Given the description of an element on the screen output the (x, y) to click on. 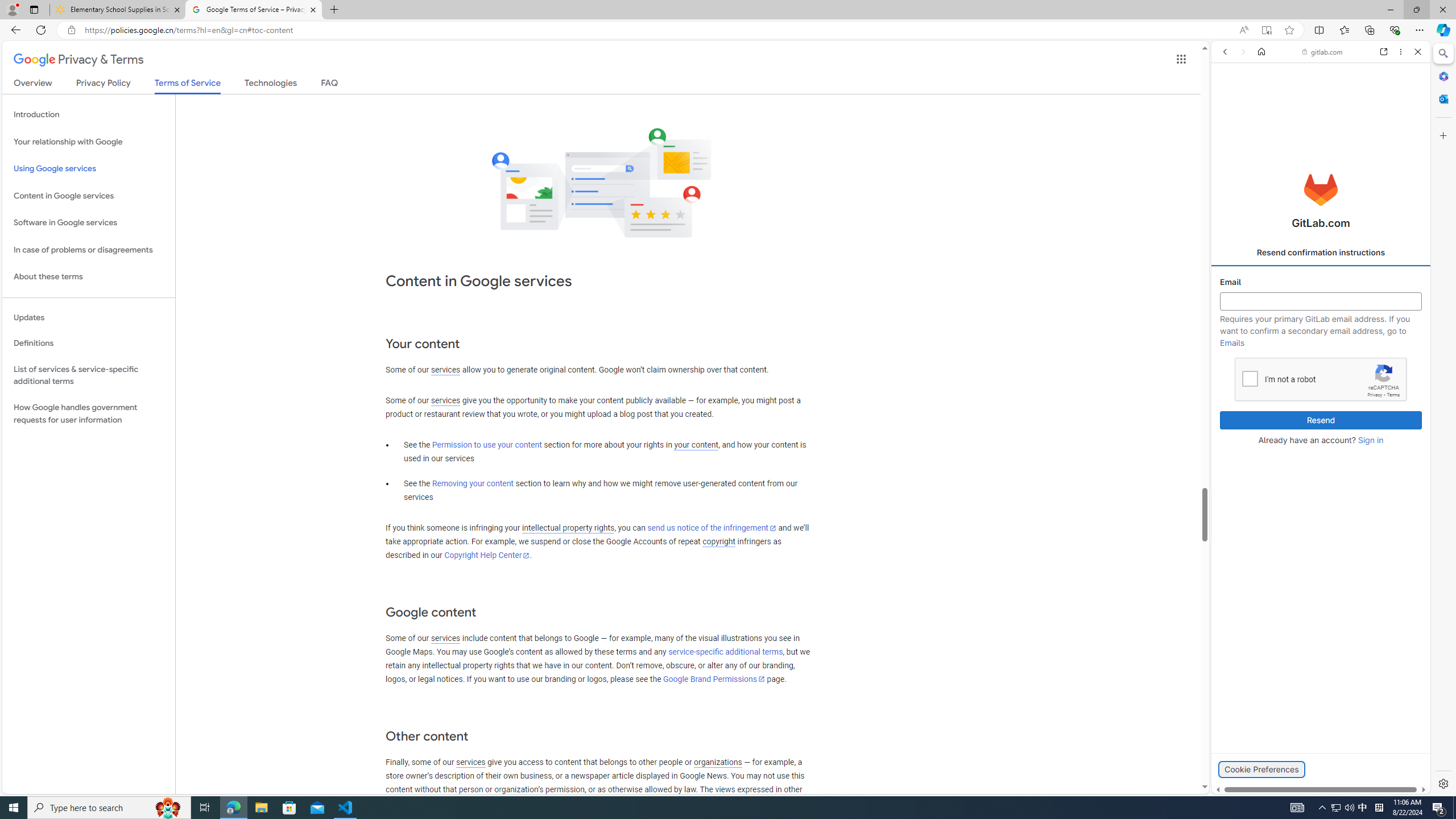
ALL   (1228, 130)
SEARCH TOOLS (1348, 130)
